Given the description of an element on the screen output the (x, y) to click on. 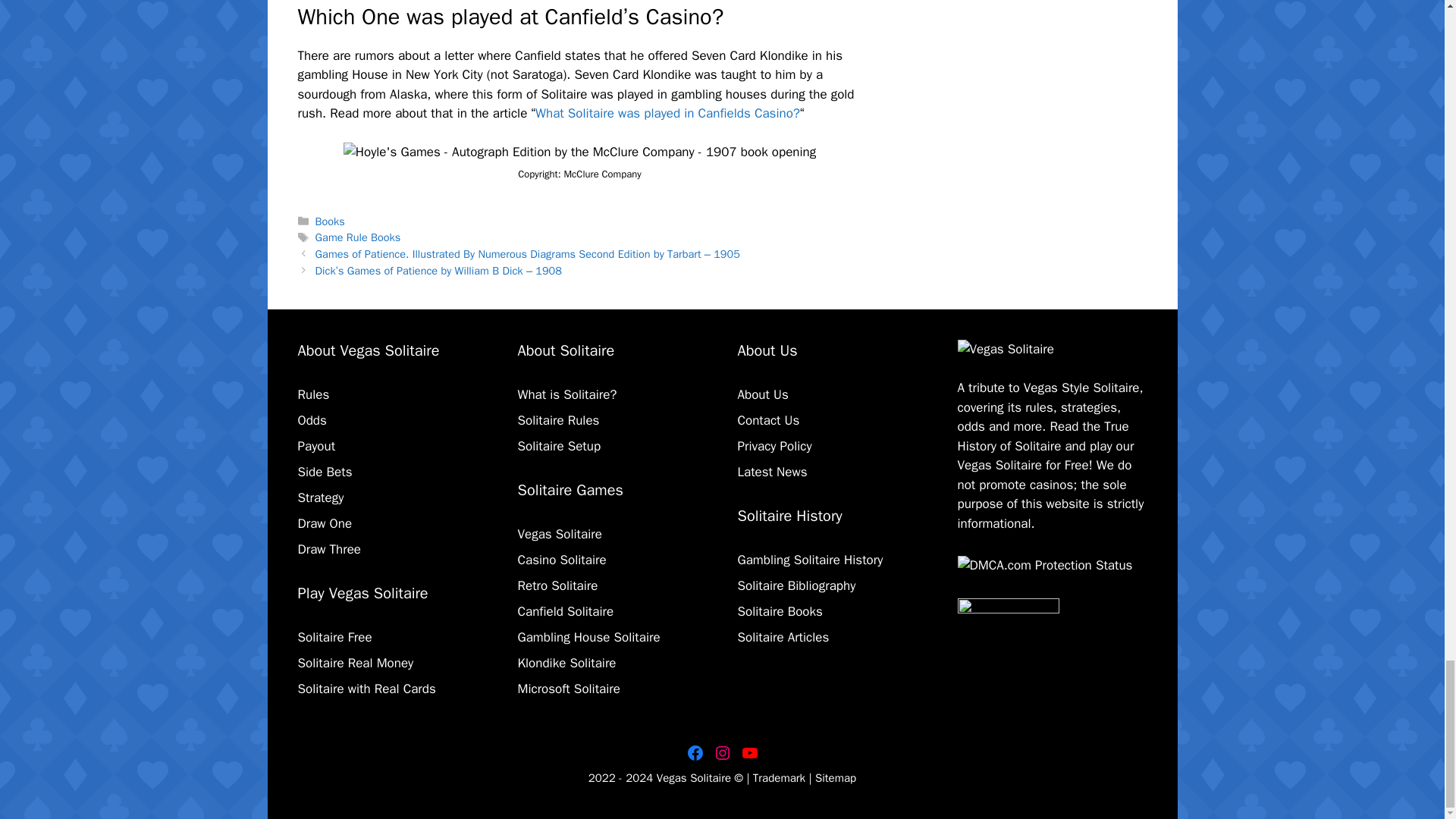
Solitaire Real Money (355, 662)
Draw Three (329, 549)
Payout (315, 446)
Solitaire Free (334, 637)
DMCA.com Protection Status (1044, 565)
Books (330, 221)
Strategy (320, 497)
Solitaire with Real Cards (366, 688)
Rules (313, 394)
Game Rule Books (358, 237)
